Given the description of an element on the screen output the (x, y) to click on. 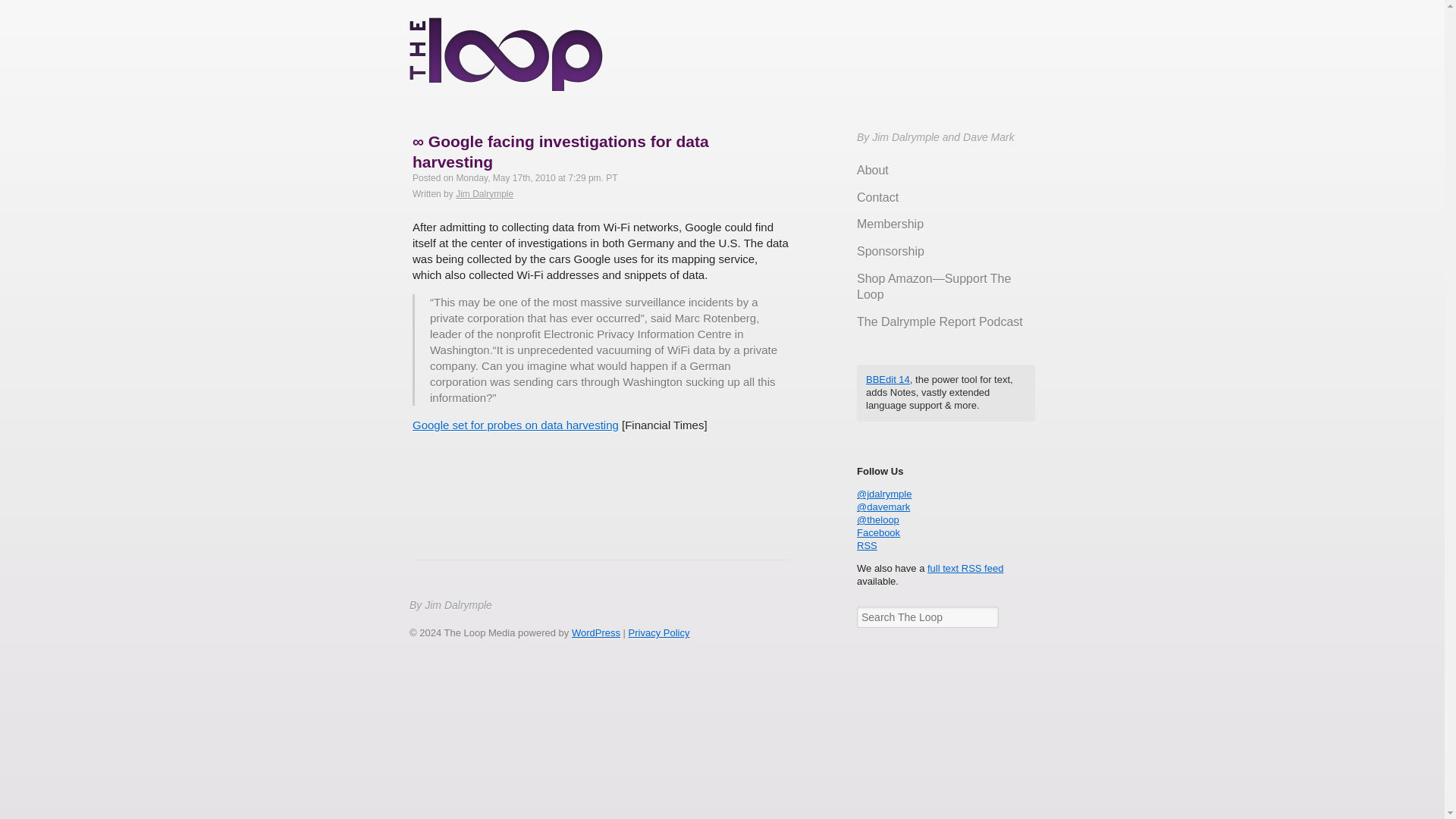
Posts by Jim Dalrymple (484, 194)
